Given the description of an element on the screen output the (x, y) to click on. 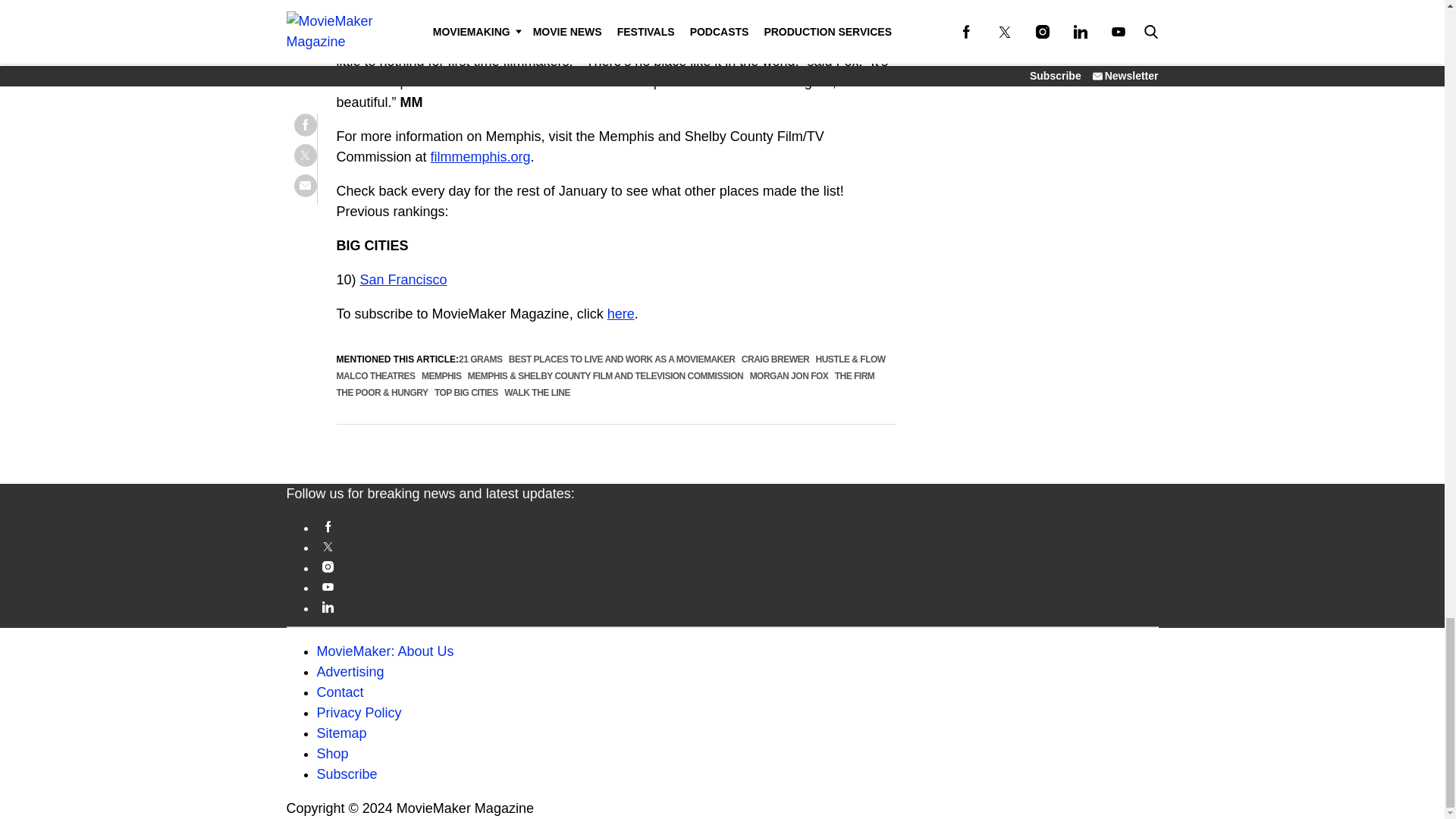
Advertising (350, 671)
Follow us on Instagram (737, 566)
MovieMaker Magazine Shop (333, 753)
Follow us on Facebook (737, 526)
MovieMaker: About Us (385, 651)
Contact MovieMaker Magazine (340, 692)
Follow us on Twitter (737, 546)
Subscribe to our YouTube channel (737, 586)
Connect with us on LinkedIn (737, 606)
MovieMaker Magazine Privacy Policy (359, 712)
